Given the description of an element on the screen output the (x, y) to click on. 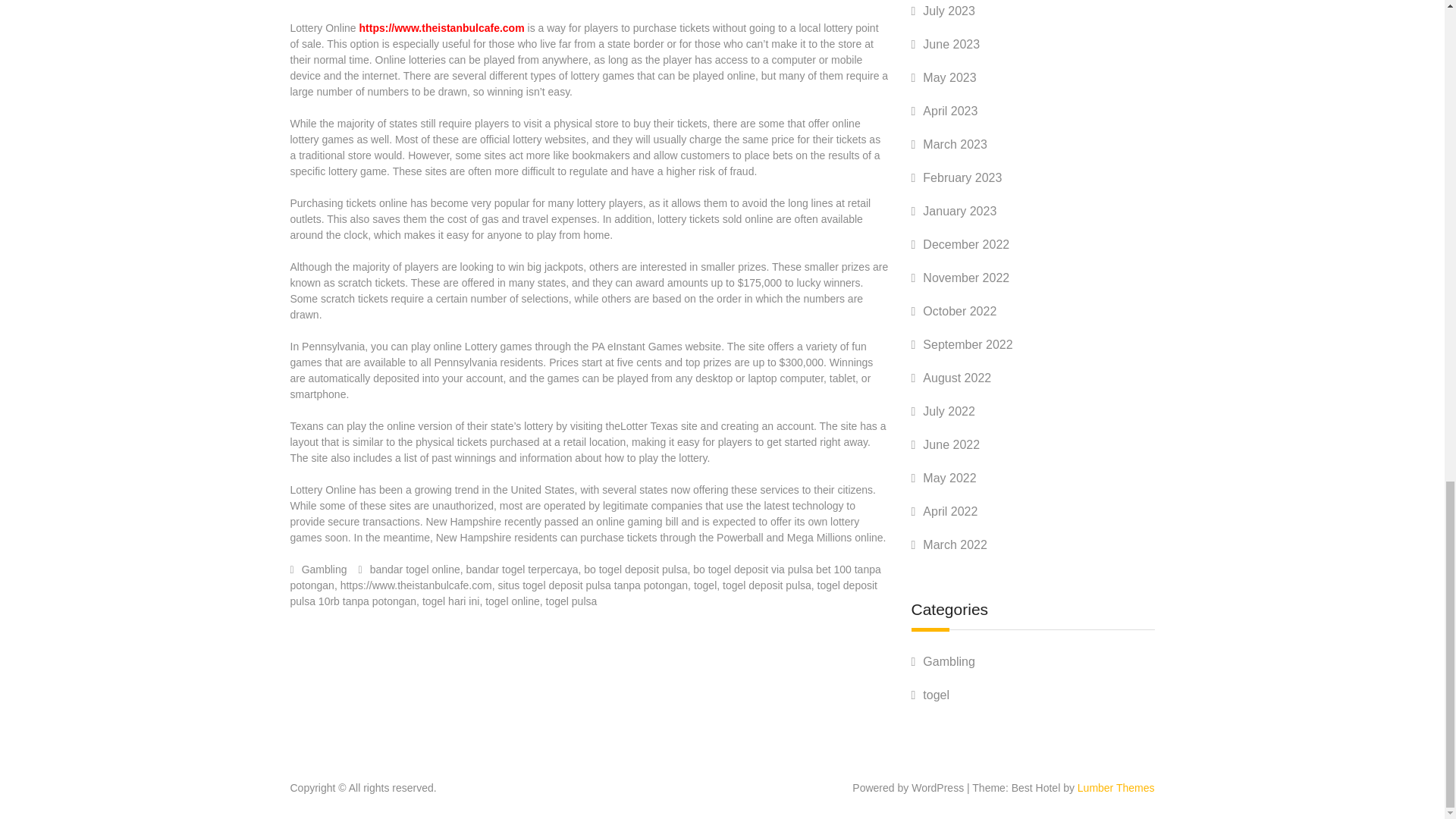
bo togel deposit pulsa (635, 569)
bo togel deposit via pulsa bet 100 tanpa potongan (584, 577)
situs togel deposit pulsa tanpa potongan (592, 585)
Gambling (324, 569)
togel (705, 585)
bandar togel terpercaya (521, 569)
togel deposit pulsa (766, 585)
togel online (512, 601)
togel deposit pulsa 10rb tanpa potongan (582, 593)
bandar togel online (414, 569)
togel hari ini (451, 601)
togel pulsa (571, 601)
